Given the description of an element on the screen output the (x, y) to click on. 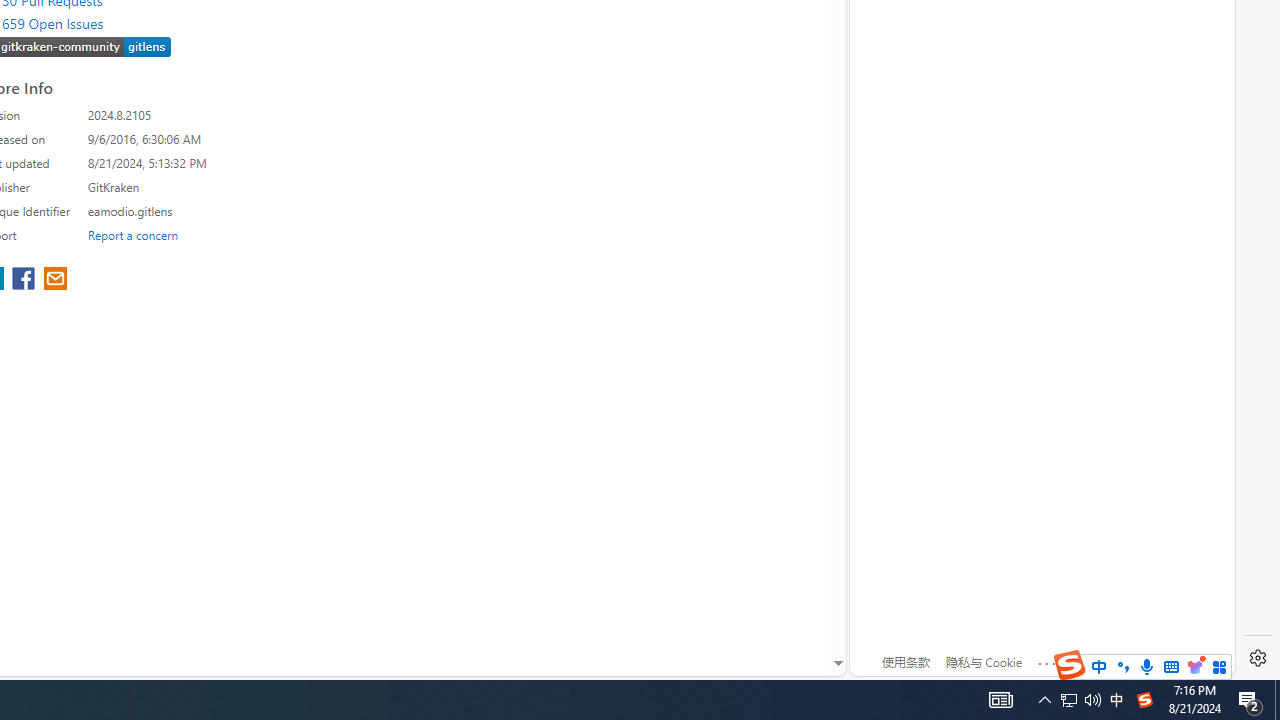
share extension on facebook (26, 280)
share extension on email (54, 280)
Report a concern (133, 234)
